Given the description of an element on the screen output the (x, y) to click on. 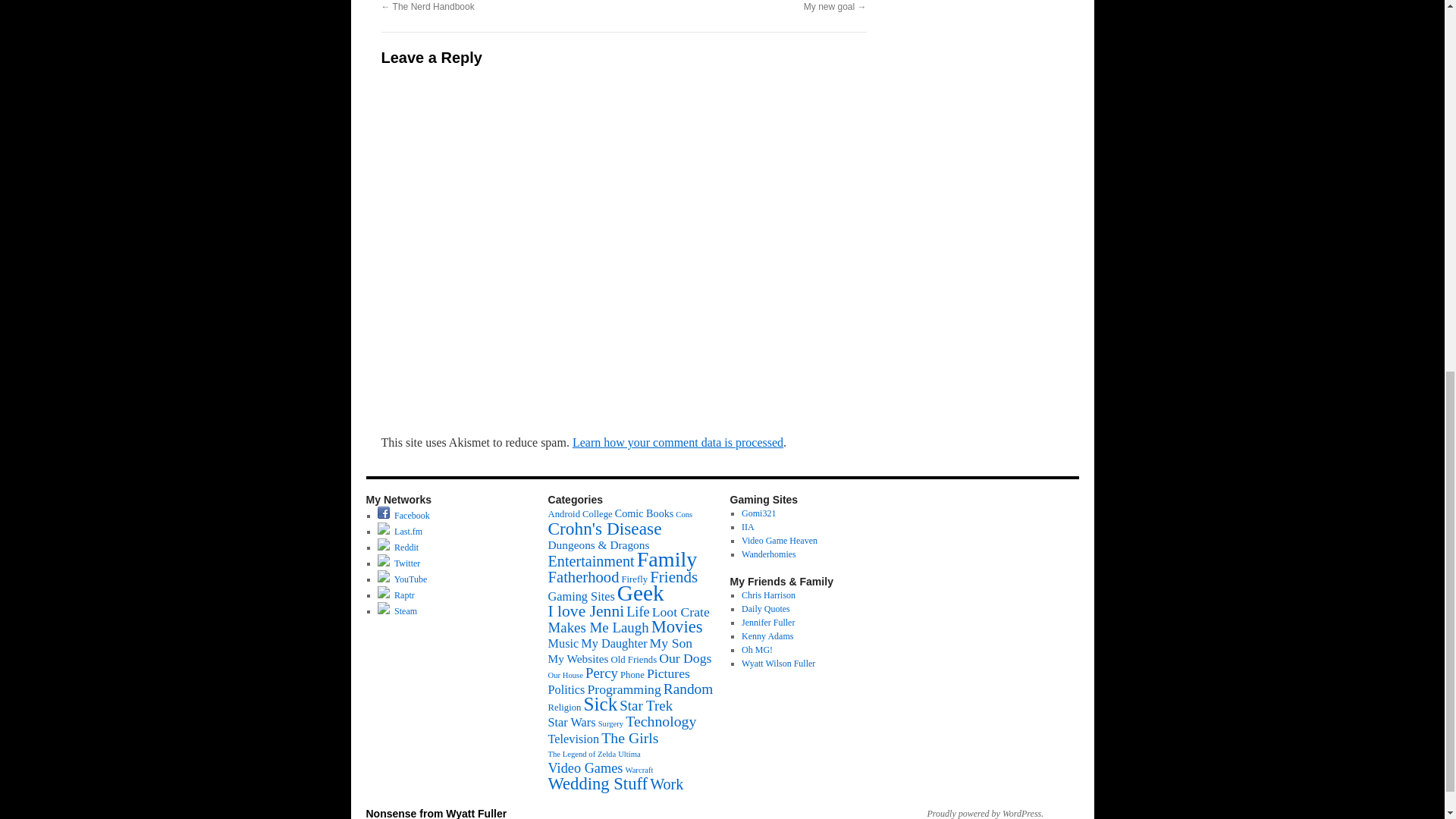
Learn how your comment data is processed (677, 441)
